Given the description of an element on the screen output the (x, y) to click on. 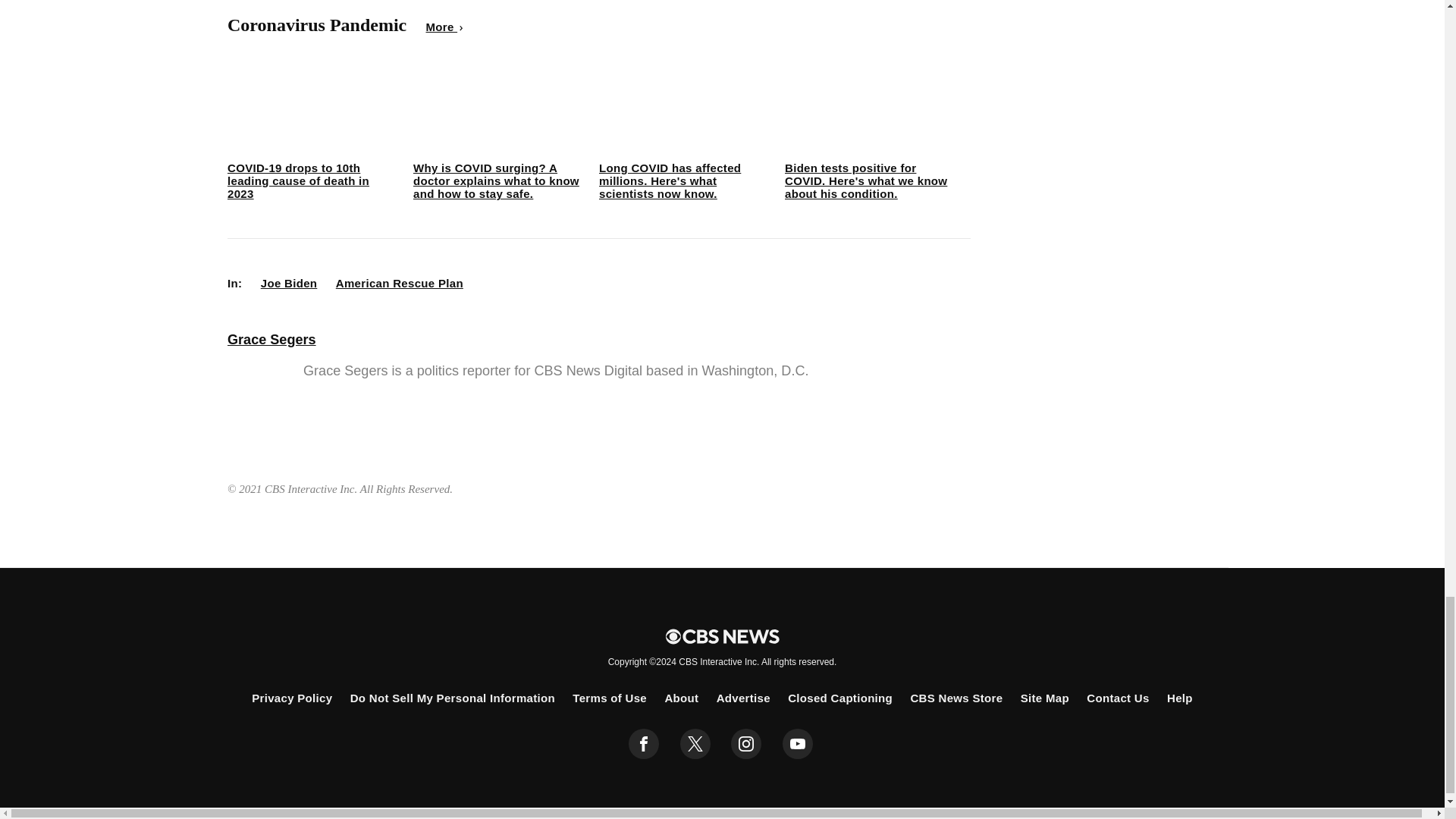
youtube (797, 743)
instagram (745, 743)
twitter (694, 743)
facebook (643, 743)
